Given the description of an element on the screen output the (x, y) to click on. 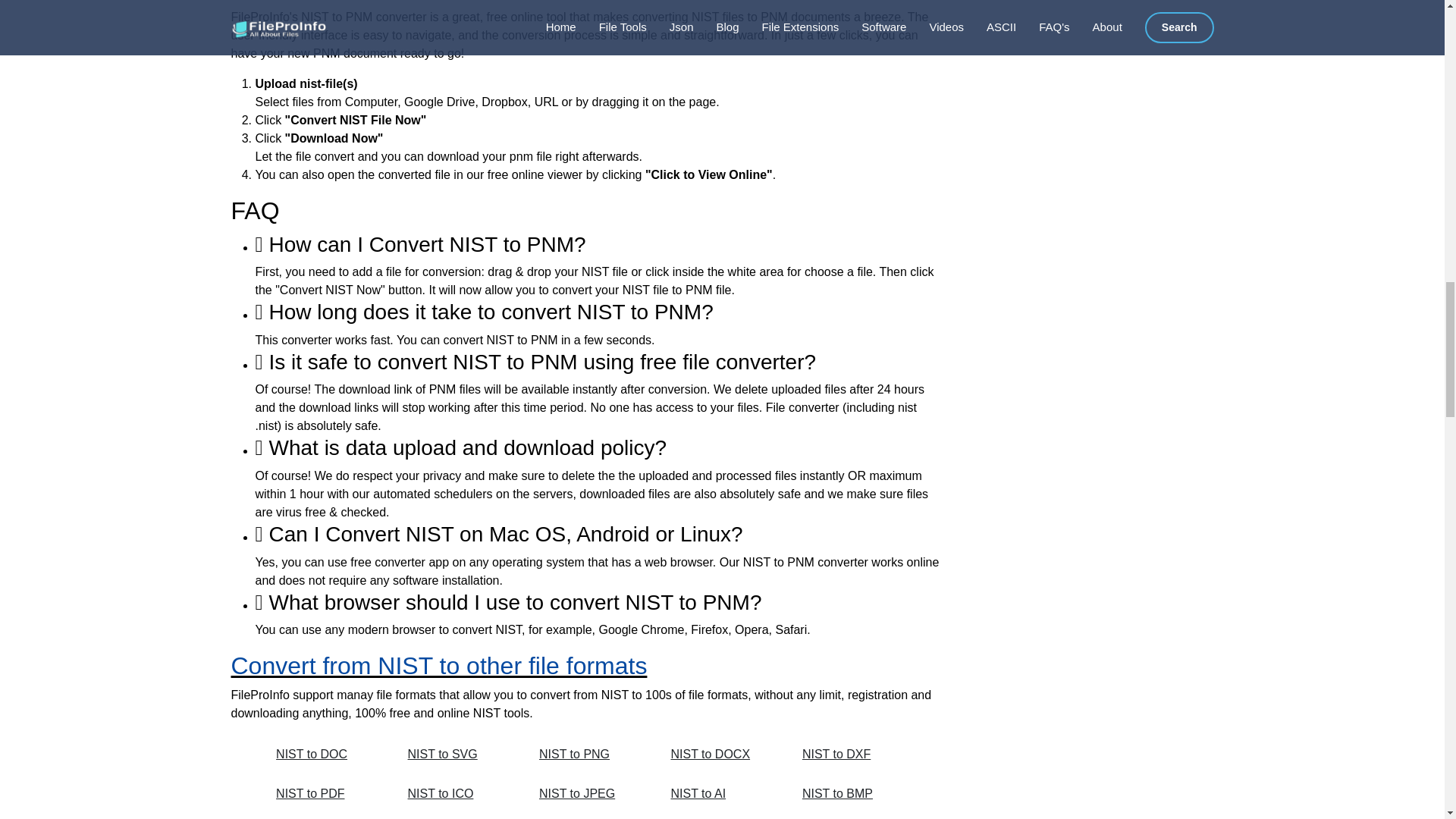
NIST to PNG (587, 754)
NIST to DXF (851, 754)
NIST to DOCX (719, 754)
NIST to SVG (456, 754)
NIST to DOC (325, 754)
Convert from NIST to other file formats (438, 665)
